Given the description of an element on the screen output the (x, y) to click on. 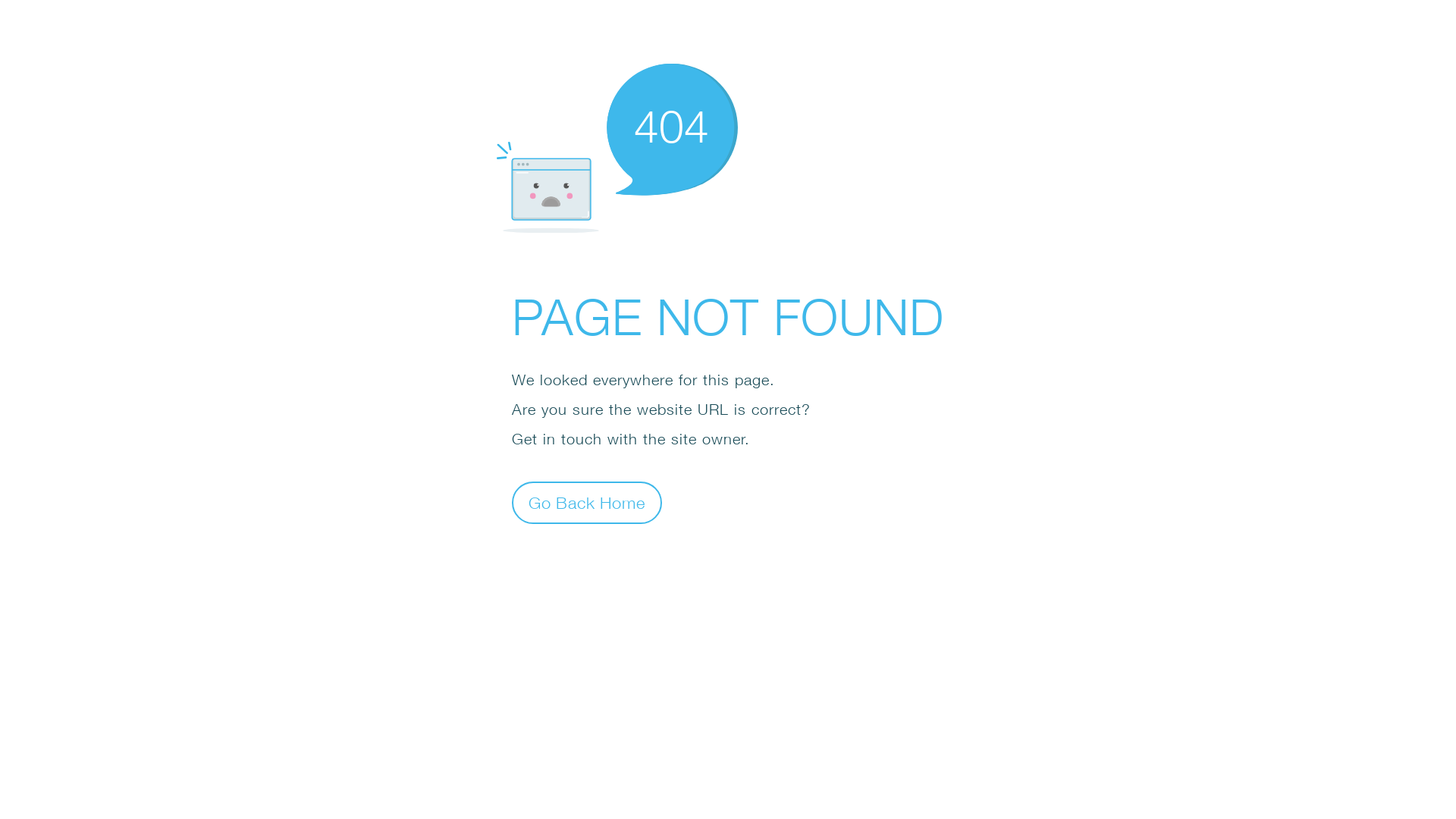
Go Back Home Element type: text (586, 502)
